Given the description of an element on the screen output the (x, y) to click on. 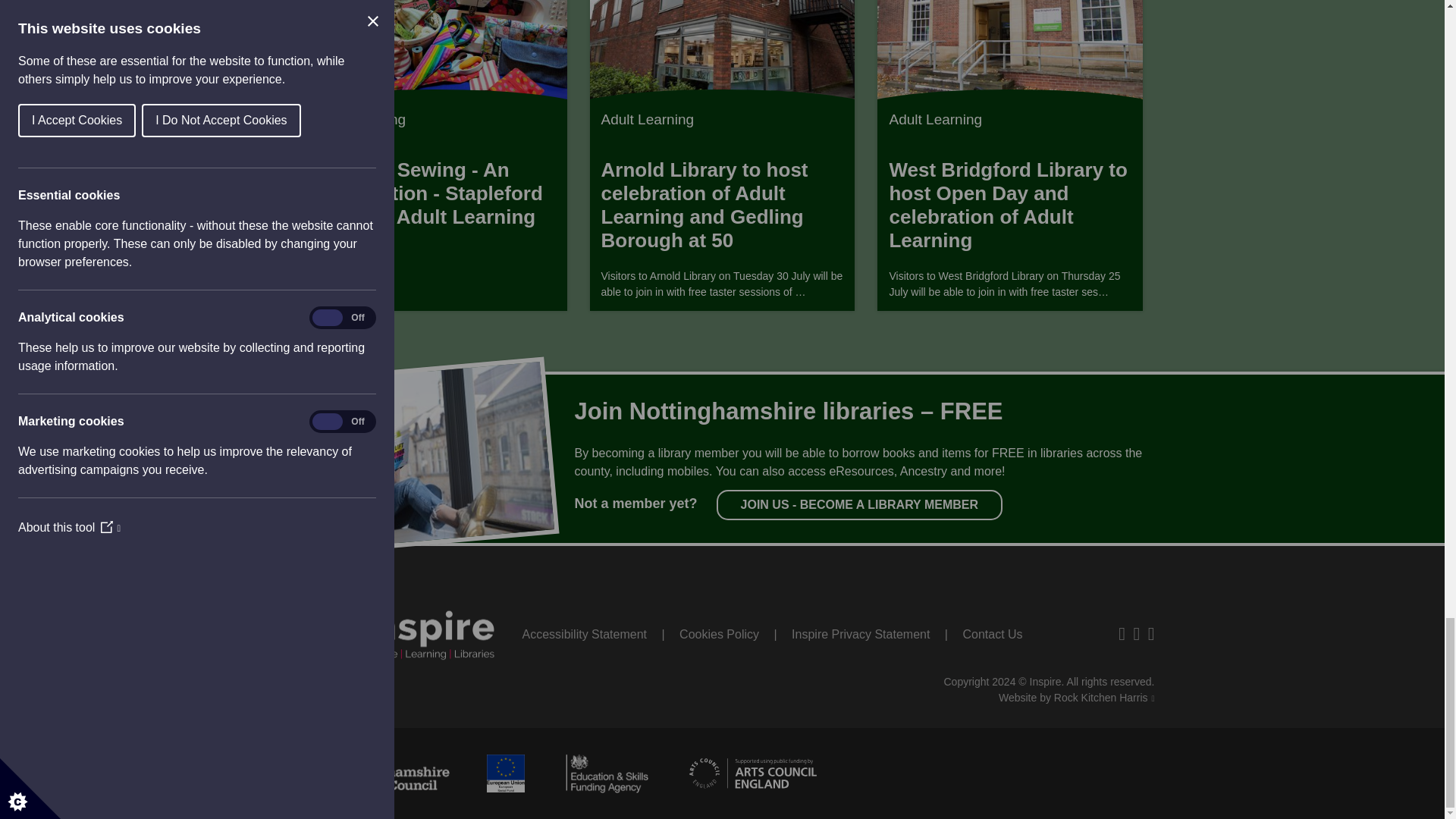
Go to home page (405, 628)
Web design and development, Leicester (1076, 697)
